Given the description of an element on the screen output the (x, y) to click on. 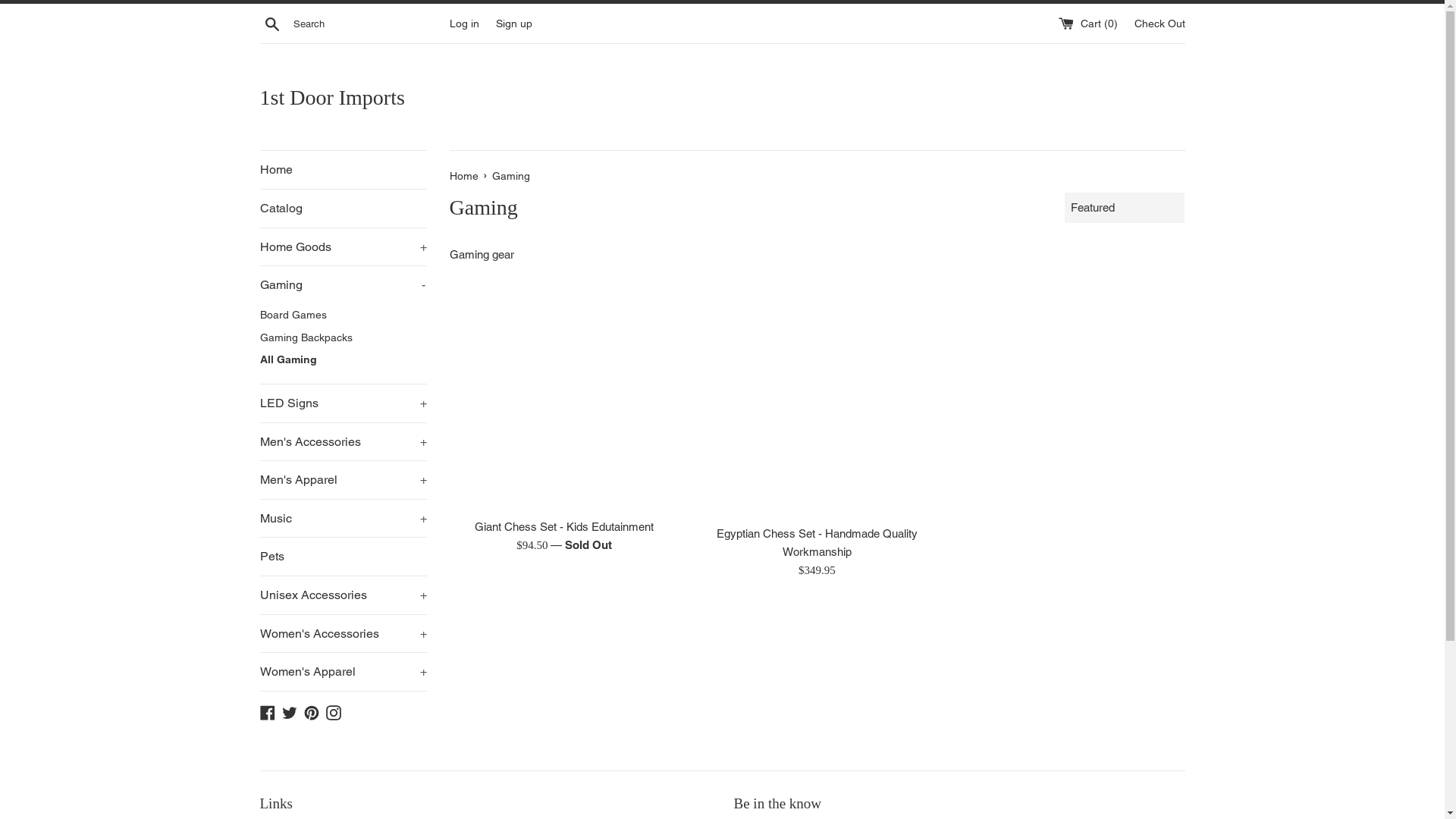
Cart (0) Element type: text (1089, 22)
Check Out Element type: text (1159, 22)
Instagram Element type: text (333, 711)
Gaming Backpacks Element type: text (342, 337)
Facebook Element type: text (266, 711)
Men's Accessories
+ Element type: text (342, 442)
Home Goods
+ Element type: text (342, 247)
Log in Element type: text (463, 22)
Twitter Element type: text (289, 711)
All Gaming Element type: text (342, 359)
Home Element type: text (342, 169)
Search Element type: text (271, 23)
Unisex Accessories
+ Element type: text (342, 595)
Catalog Element type: text (342, 208)
Music
+ Element type: text (342, 518)
Men's Apparel
+ Element type: text (342, 479)
Women's Accessories
+ Element type: text (342, 633)
Giant Chess Set - Kids Edutainment Element type: hover (563, 398)
Pets Element type: text (342, 556)
Giant Chess Set - Kids Edutainment Element type: text (563, 526)
Sign up Element type: text (513, 22)
Egyptian Chess Set - Handmade Quality Workmanship Element type: hover (816, 401)
Women's Apparel
+ Element type: text (342, 671)
LED Signs
+ Element type: text (342, 403)
Egyptian Chess Set - Handmade Quality Workmanship Element type: text (816, 542)
Home Element type: text (464, 175)
Board Games Element type: text (342, 315)
1st Door Imports Element type: text (721, 97)
Gaming
- Element type: text (342, 285)
Pinterest Element type: text (310, 711)
